Given the description of an element on the screen output the (x, y) to click on. 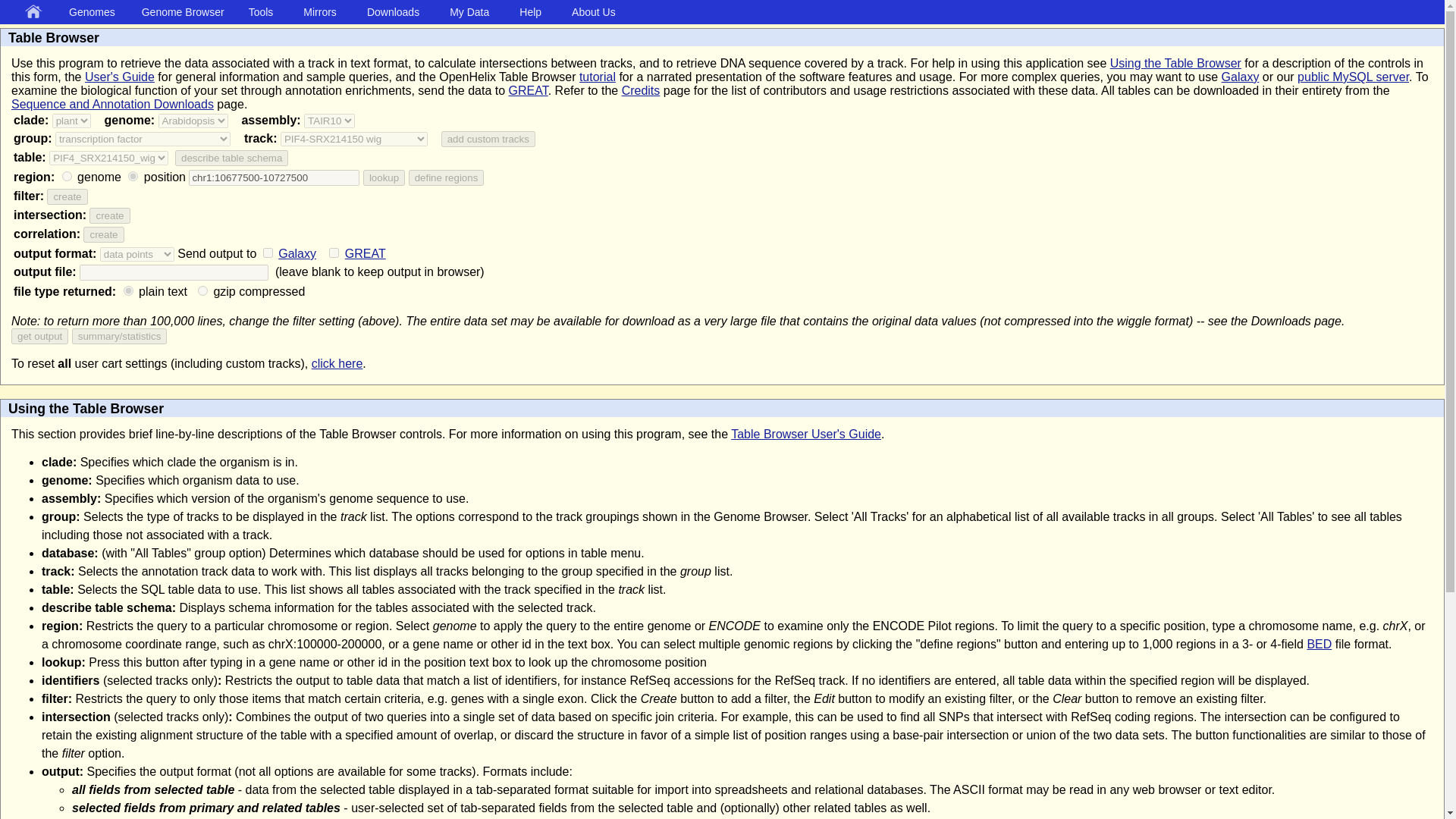
describe table schema (231, 157)
lookup (383, 177)
range (133, 175)
define regions (446, 177)
chr1:10677500-10727500 (274, 177)
create (102, 234)
create (108, 215)
none (128, 290)
Home (36, 12)
on (334, 252)
gzip (203, 290)
Genome Browser (185, 11)
genome (66, 175)
on (268, 252)
create (66, 196)
